Given the description of an element on the screen output the (x, y) to click on. 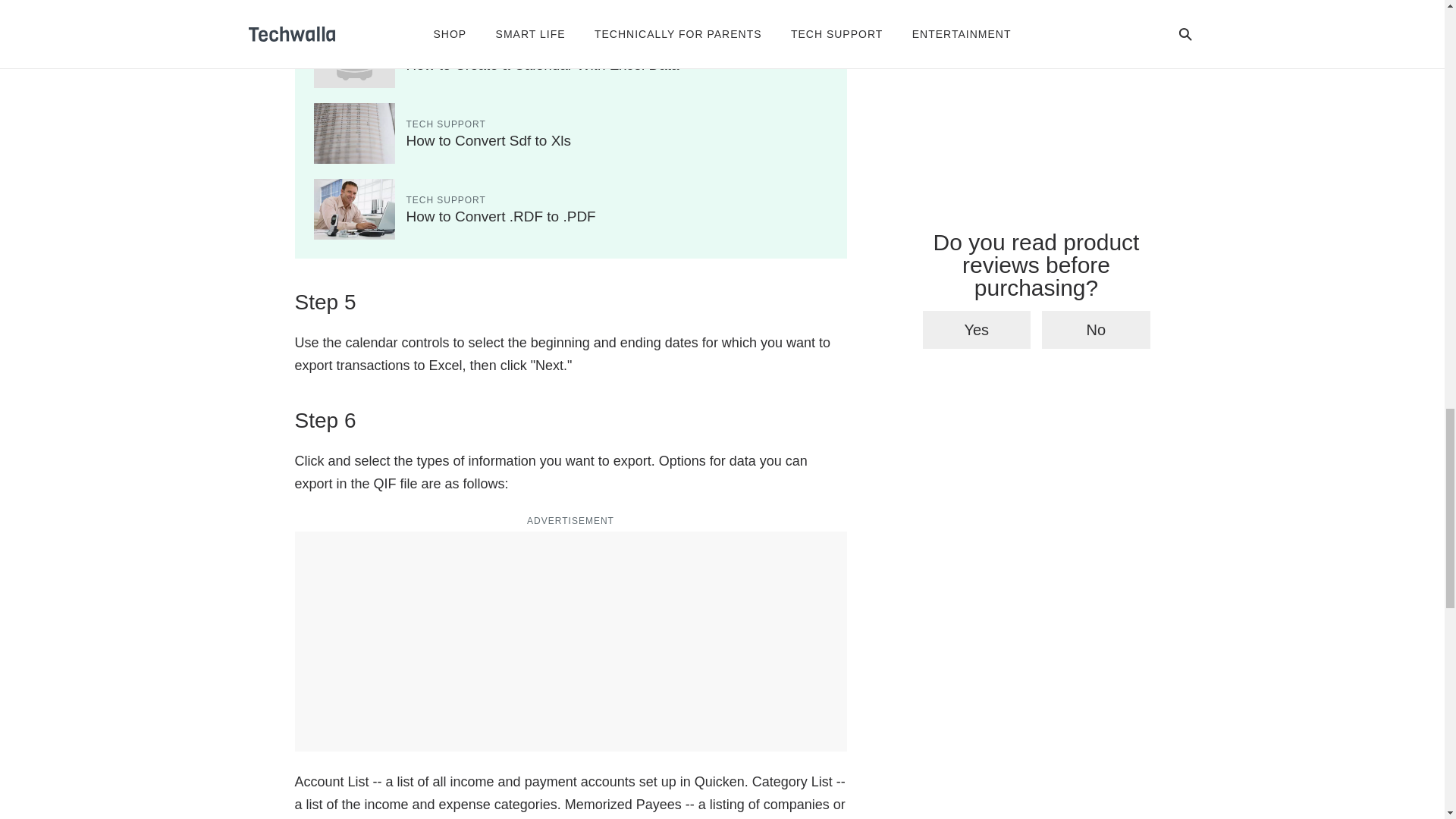
How to Convert .RDF to .PDF (500, 216)
How to Convert Sdf to Xls (489, 140)
How to Create a Calendar With Excel Data (542, 64)
